Given the description of an element on the screen output the (x, y) to click on. 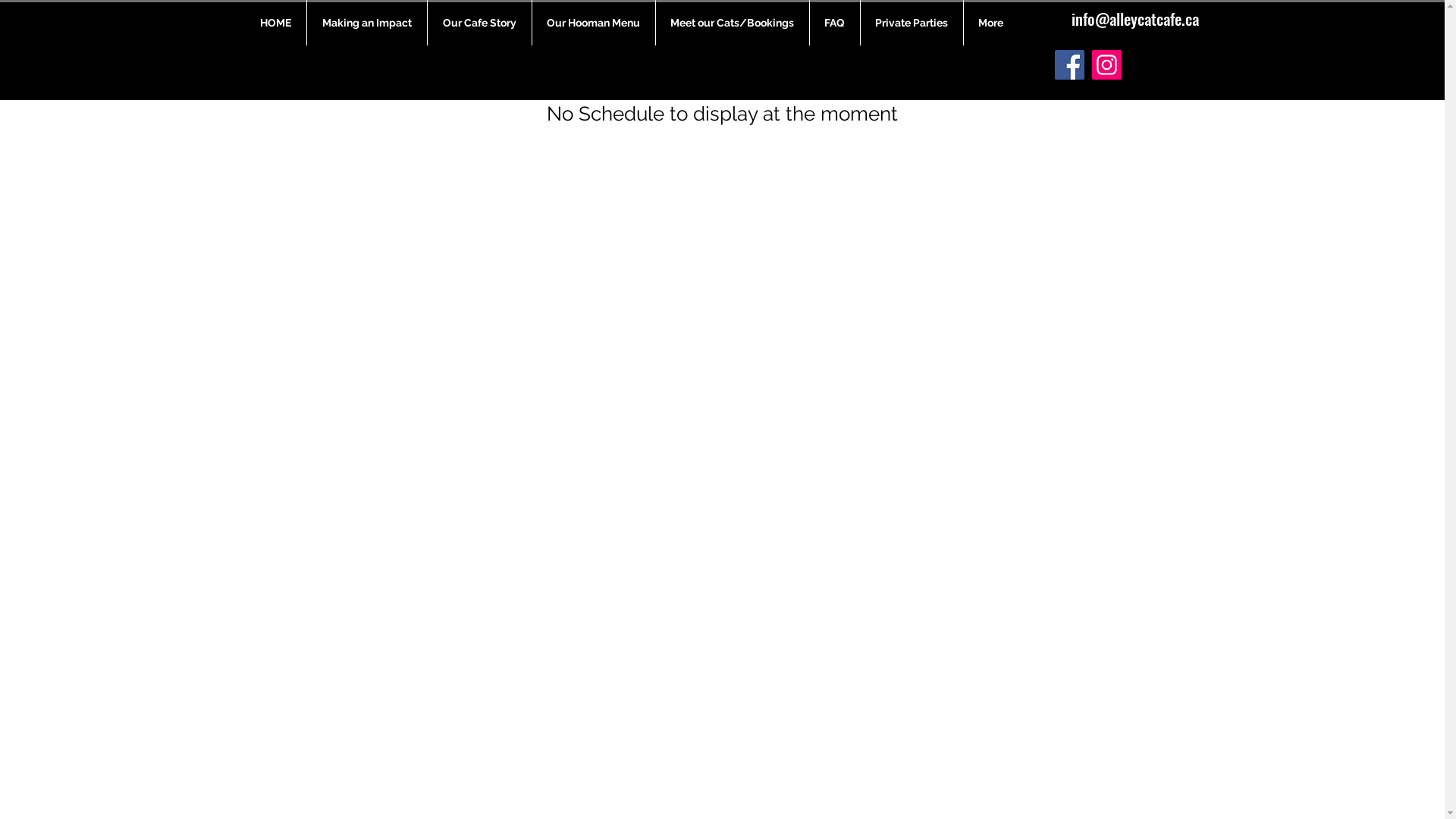
FAQ Element type: text (834, 22)
Our Hooman Menu Element type: text (593, 22)
Making an Impact Element type: text (366, 22)
Our Cafe Story Element type: text (479, 22)
Meet our Cats/Bookings Element type: text (731, 22)
info@alleycatcafe.ca Element type: text (1134, 18)
HOME Element type: text (274, 22)
Private Parties Element type: text (910, 22)
